Given the description of an element on the screen output the (x, y) to click on. 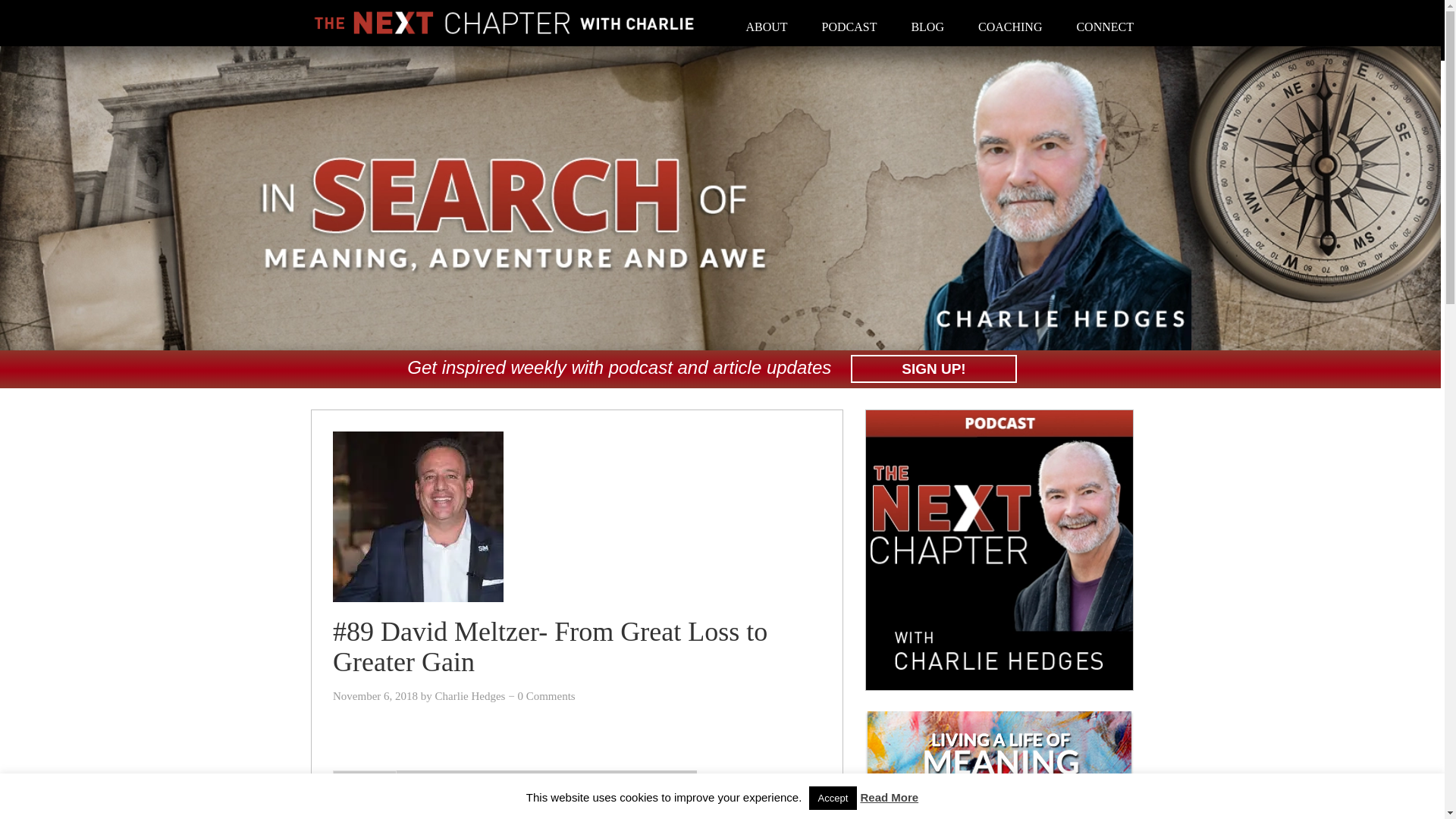
The Next Chapter with Charlie (504, 21)
ABOUT (766, 26)
COACHING (1010, 26)
Read More (889, 797)
BLOG (927, 26)
SIGN UP! (933, 368)
PODCAST (849, 26)
Accept (833, 797)
CONNECT (1104, 26)
